Given the description of an element on the screen output the (x, y) to click on. 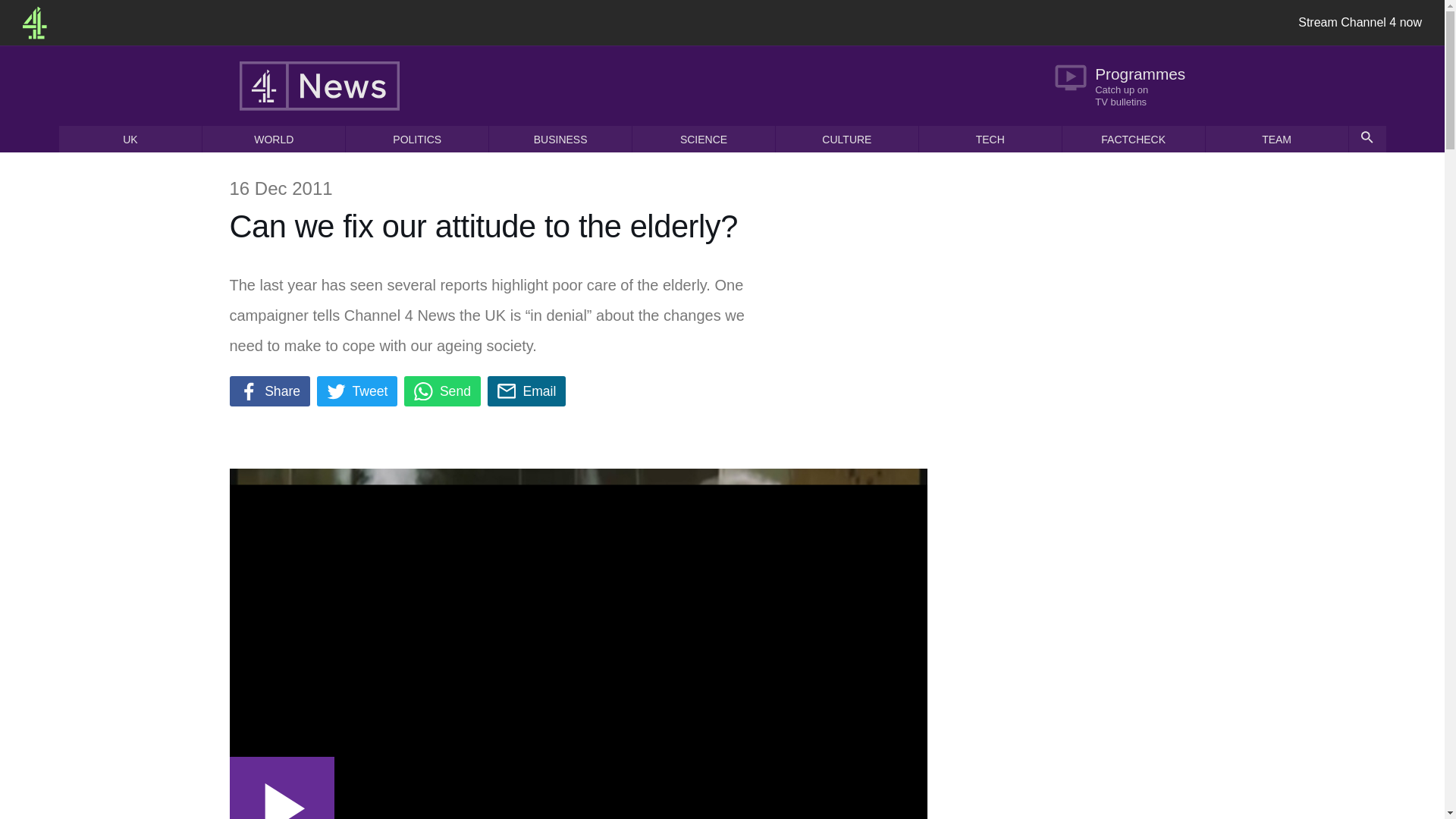
World news (273, 139)
CULTURE (847, 139)
Play Video (280, 787)
BUSINESS (560, 139)
UK (130, 139)
FACTCHECK (1133, 139)
Email (526, 390)
TEAM (1276, 139)
WORLD (273, 139)
Tweet (357, 390)
